Given the description of an element on the screen output the (x, y) to click on. 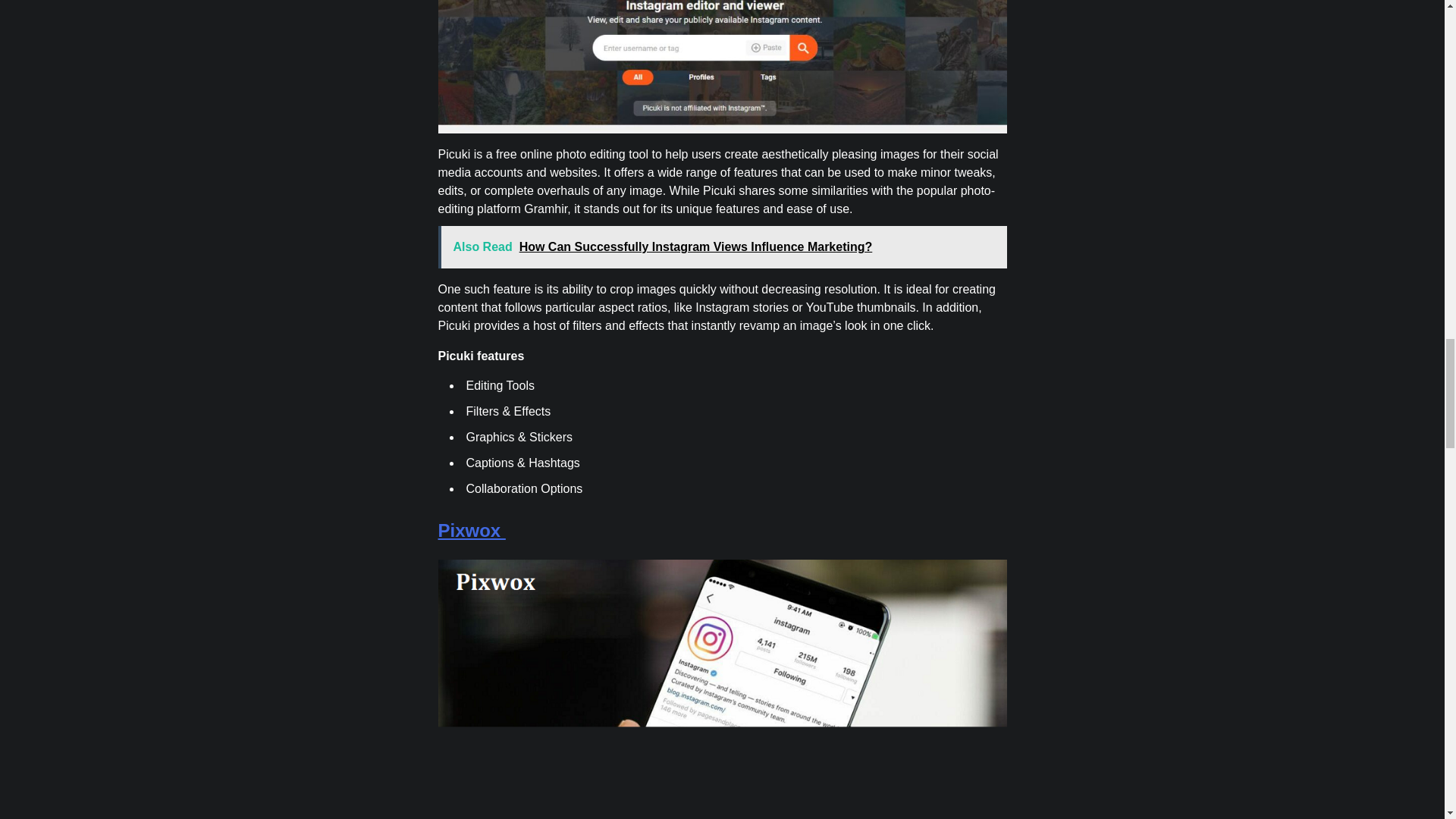
Pixwox  (471, 530)
